Given the description of an element on the screen output the (x, y) to click on. 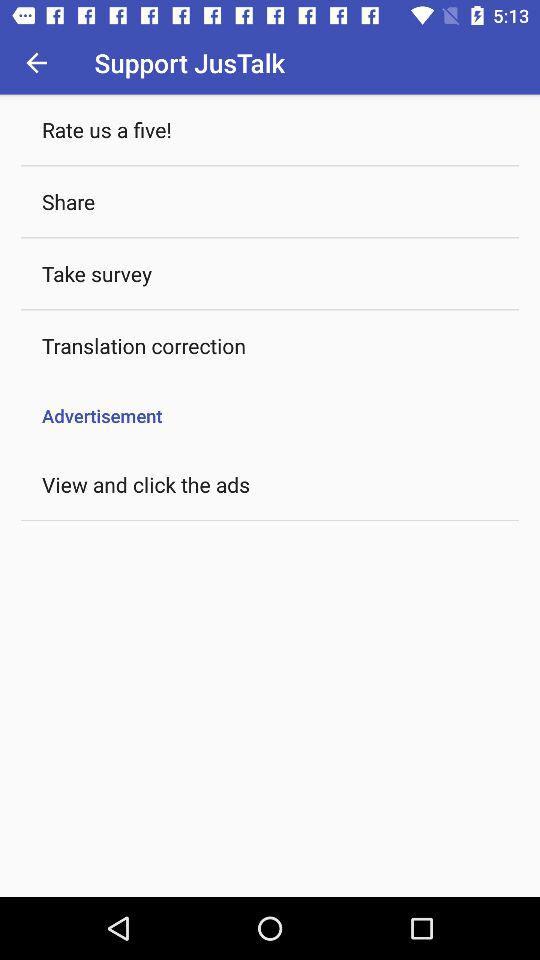
tap the icon to the left of support justalk icon (36, 62)
